Given the description of an element on the screen output the (x, y) to click on. 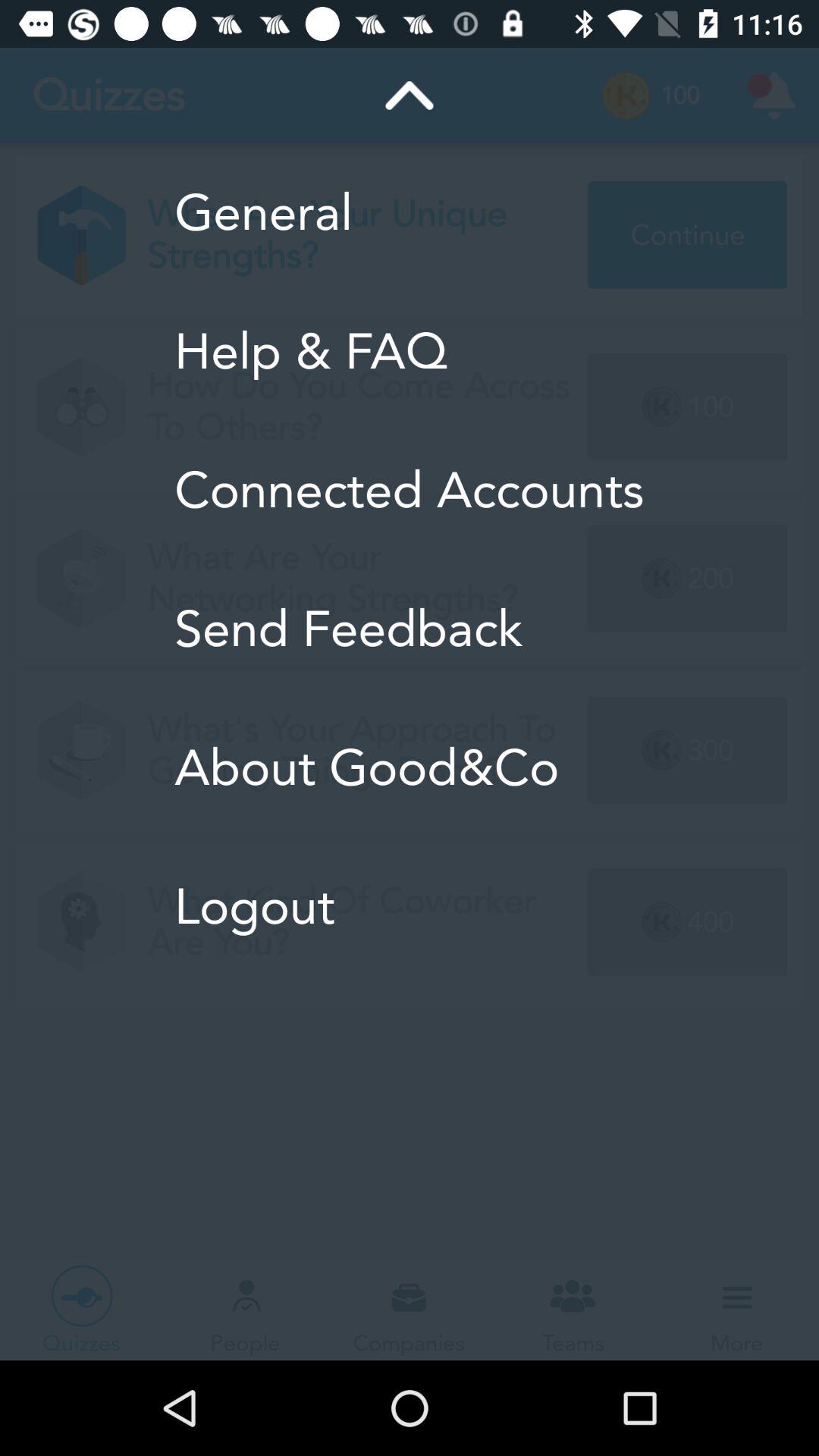
flip to about good&co (408, 767)
